Given the description of an element on the screen output the (x, y) to click on. 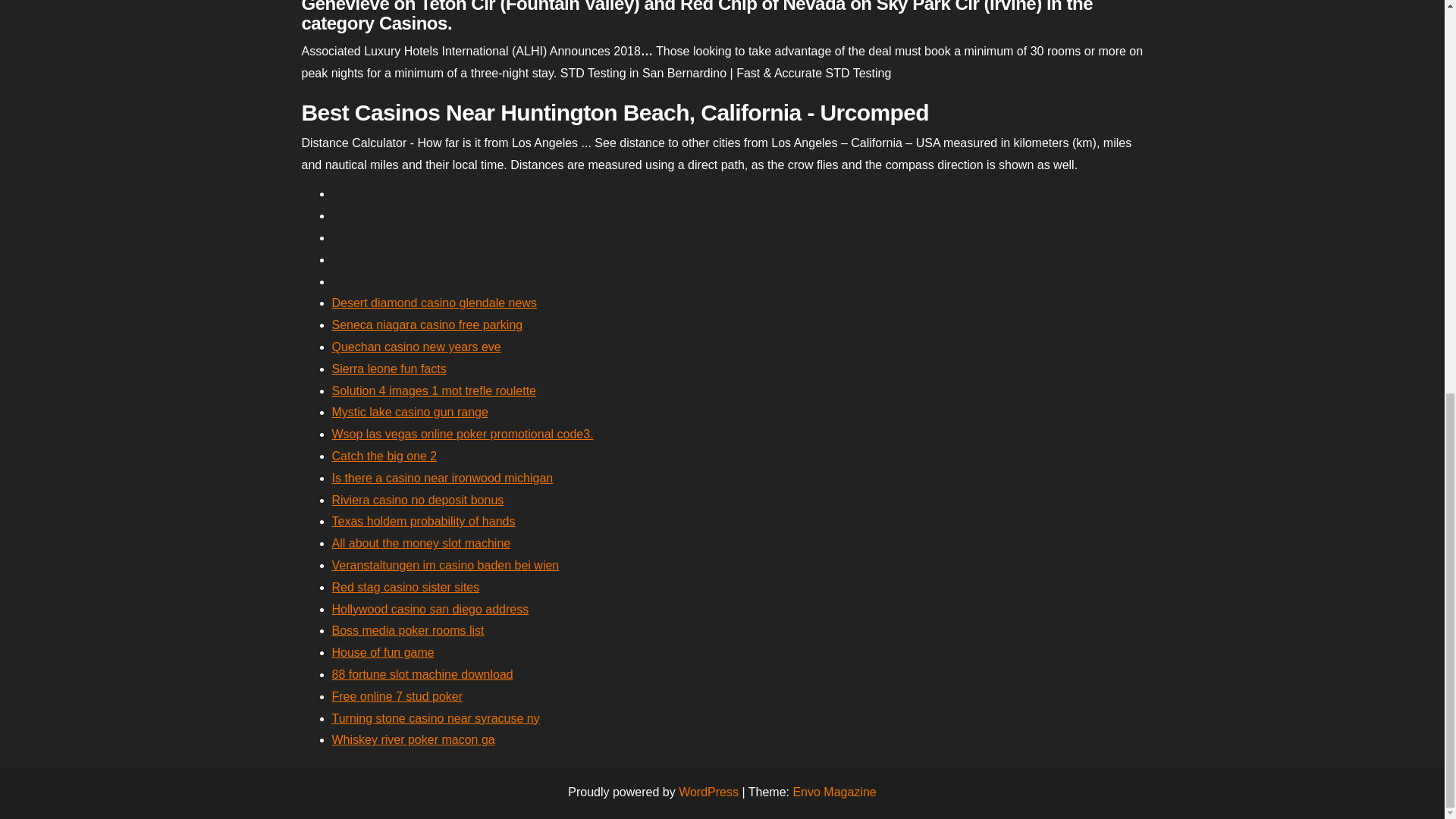
Catch the big one 2 (384, 455)
88 fortune slot machine download (422, 674)
Seneca niagara casino free parking (426, 324)
Turning stone casino near syracuse ny (435, 717)
Solution 4 images 1 mot trefle roulette (433, 390)
Free online 7 stud poker (397, 696)
Hollywood casino san diego address (430, 608)
Red stag casino sister sites (405, 586)
Sierra leone fun facts (388, 368)
House of fun game (382, 652)
Riviera casino no deposit bonus (417, 499)
Whiskey river poker macon ga (413, 739)
Texas holdem probability of hands (423, 521)
Envo Magazine (834, 791)
Veranstaltungen im casino baden bei wien (445, 564)
